Given the description of an element on the screen output the (x, y) to click on. 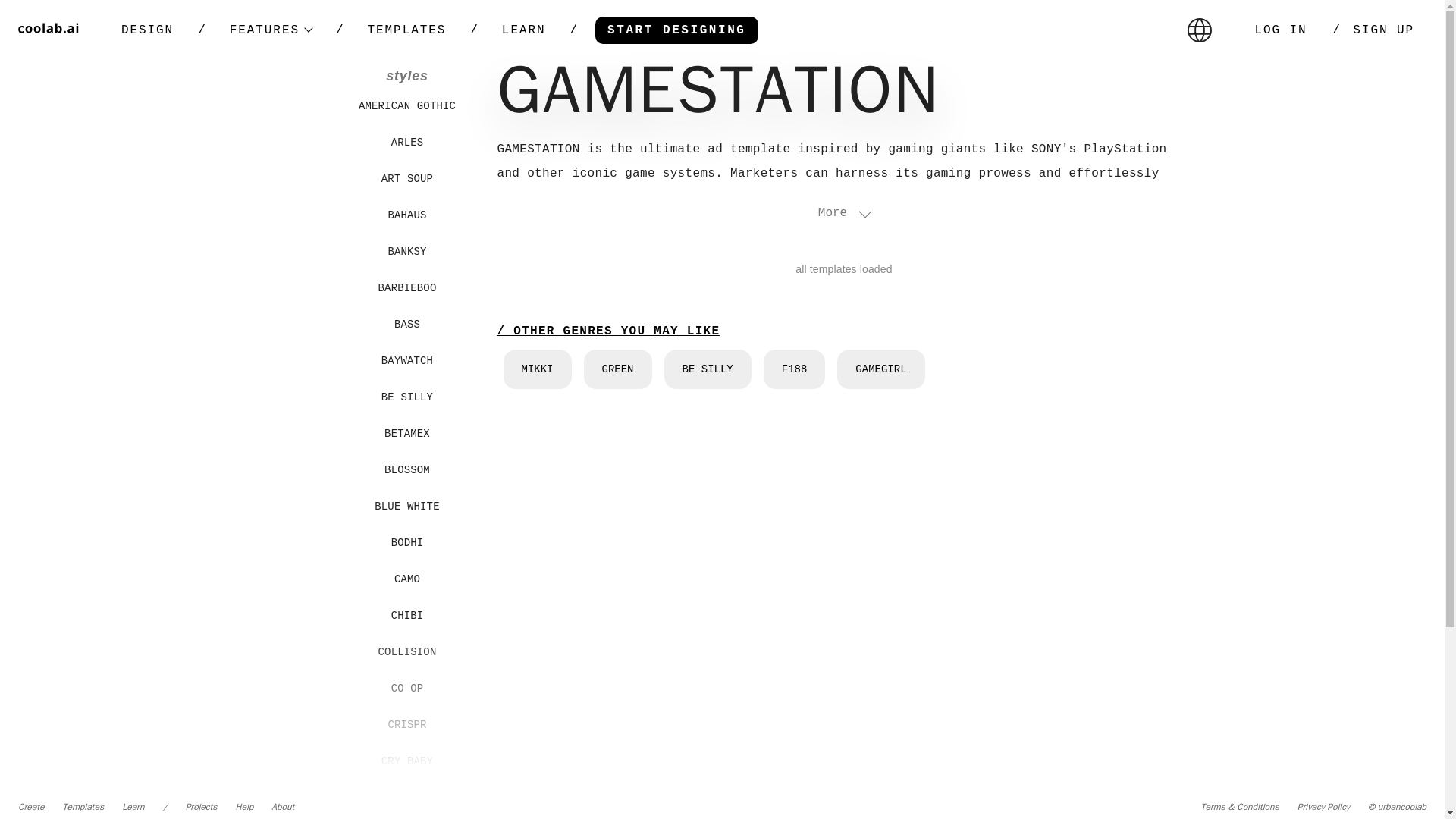
TEMPLATES (406, 30)
BANKSY (406, 251)
BETAMEX (406, 433)
ART SOUP (406, 178)
LOG IN (1279, 30)
BAYWATCH (406, 360)
BASS (406, 324)
ARLES (406, 142)
BARBIEBOO (406, 287)
BE SILLY (406, 397)
